Given the description of an element on the screen output the (x, y) to click on. 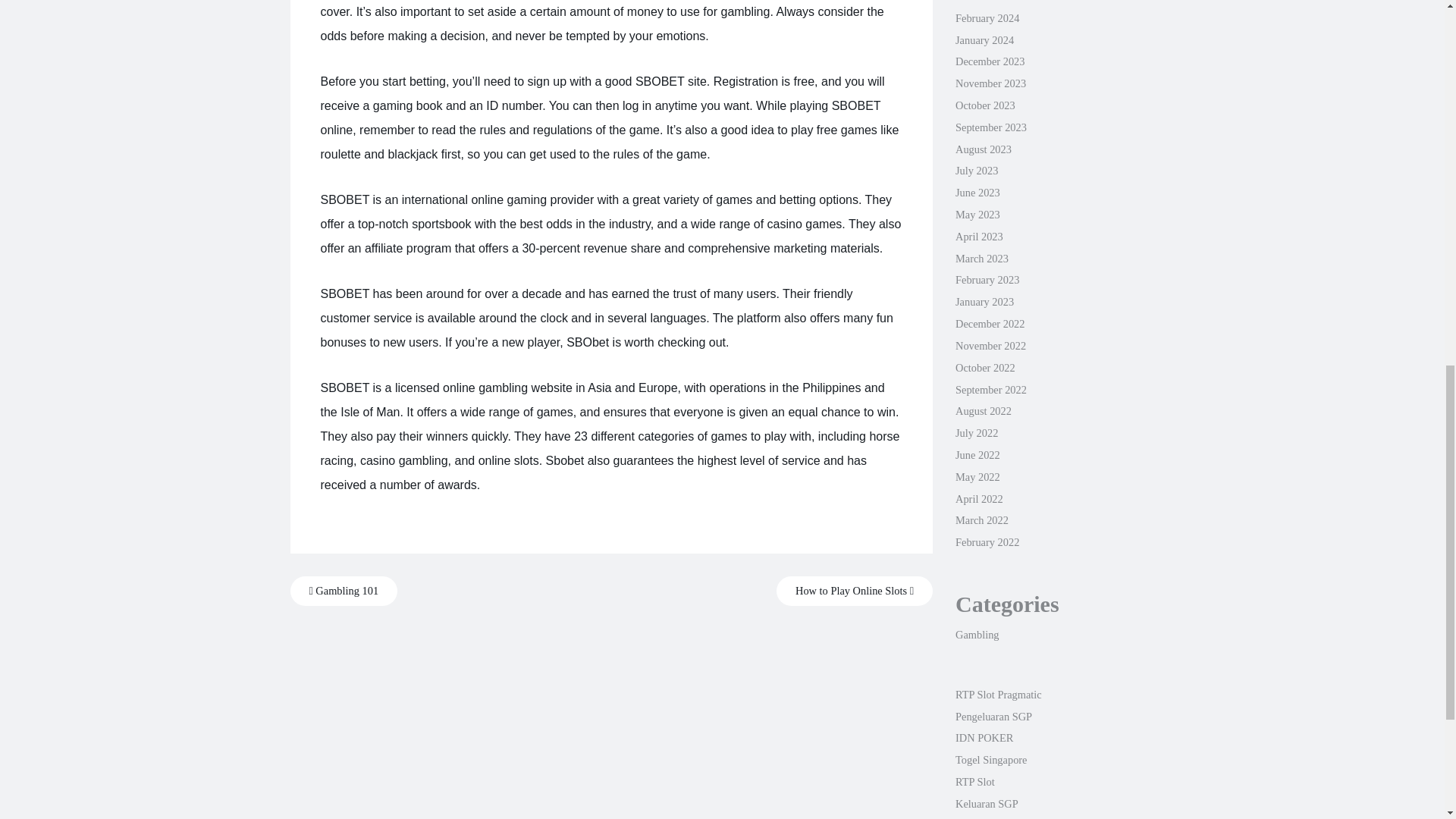
May 2023 (977, 214)
September 2023 (990, 127)
Gambling 101 (343, 591)
June 2023 (977, 192)
January 2024 (984, 39)
April 2023 (979, 236)
March 2024 (982, 1)
November 2022 (990, 345)
March 2023 (982, 258)
October 2022 (984, 367)
